Given the description of an element on the screen output the (x, y) to click on. 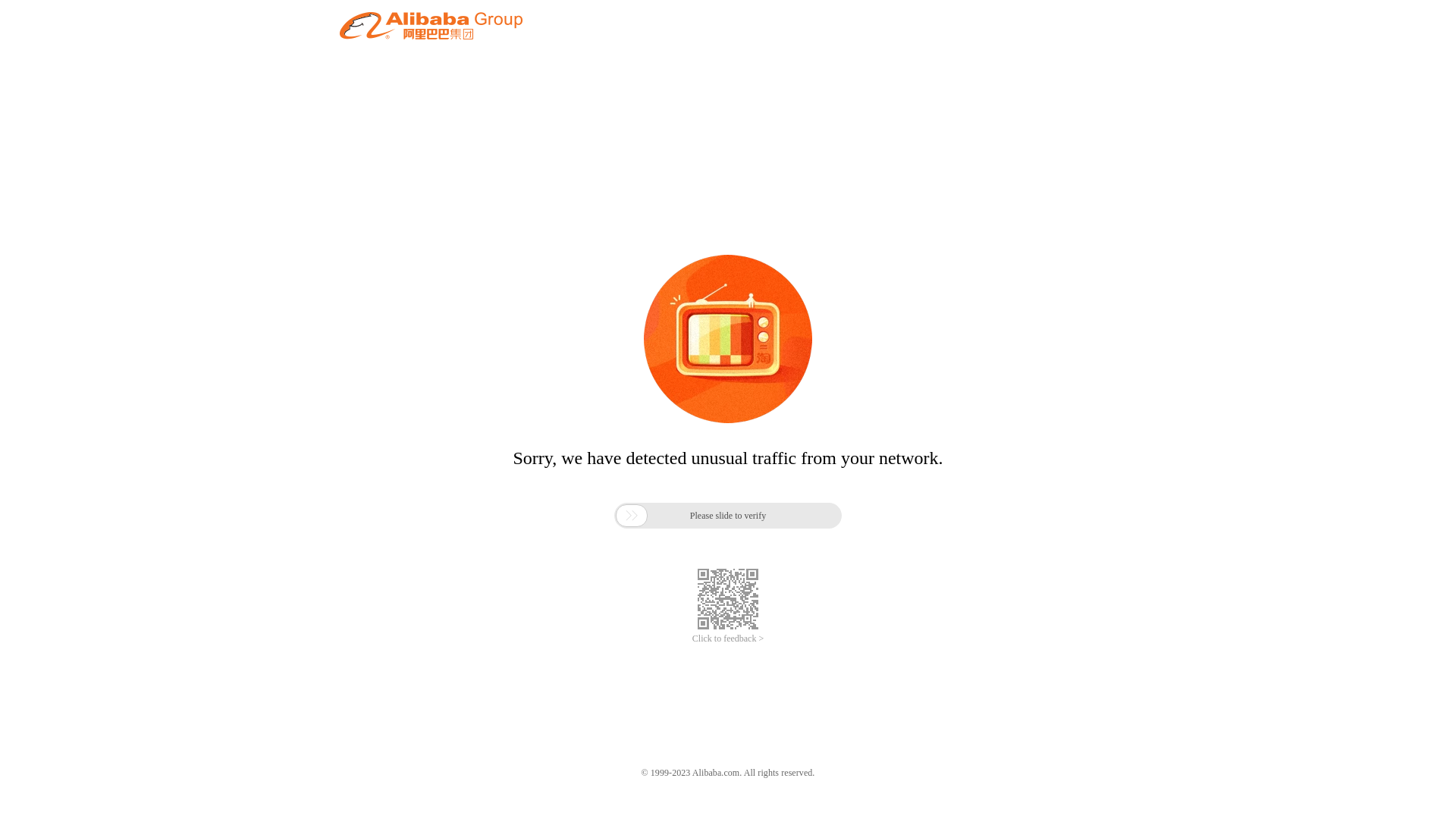
Click to feedback > Element type: text (727, 638)
